Given the description of an element on the screen output the (x, y) to click on. 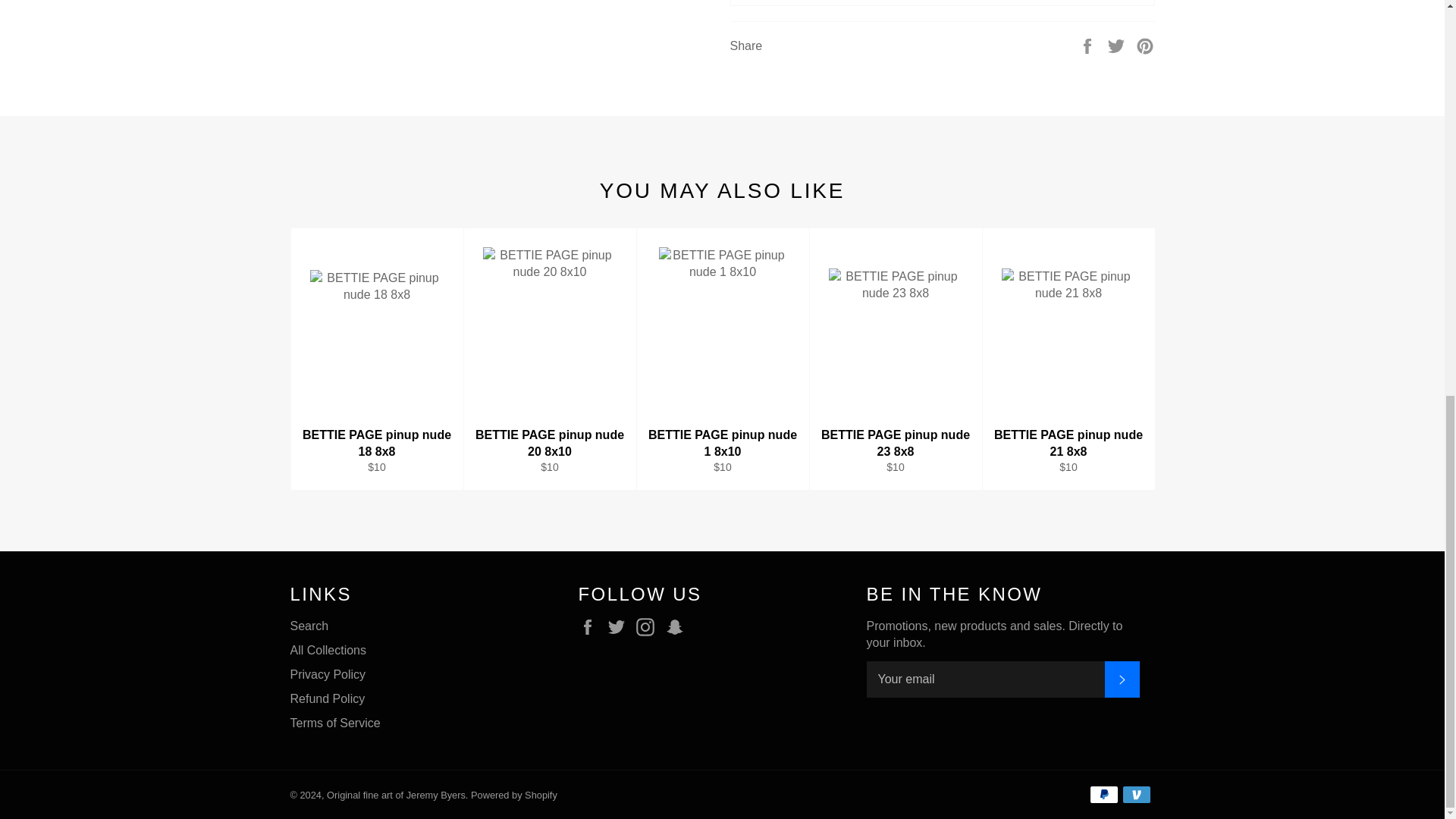
Share on Facebook (1088, 44)
Original fine art of Jeremy Byers on Twitter (620, 627)
Original fine art of Jeremy Byers on Instagram (649, 627)
Original fine art of Jeremy Byers on Facebook (591, 627)
Tweet on Twitter (1117, 44)
Pin on Pinterest (1144, 44)
Original fine art of Jeremy Byers on Snapchat (678, 627)
